Given the description of an element on the screen output the (x, y) to click on. 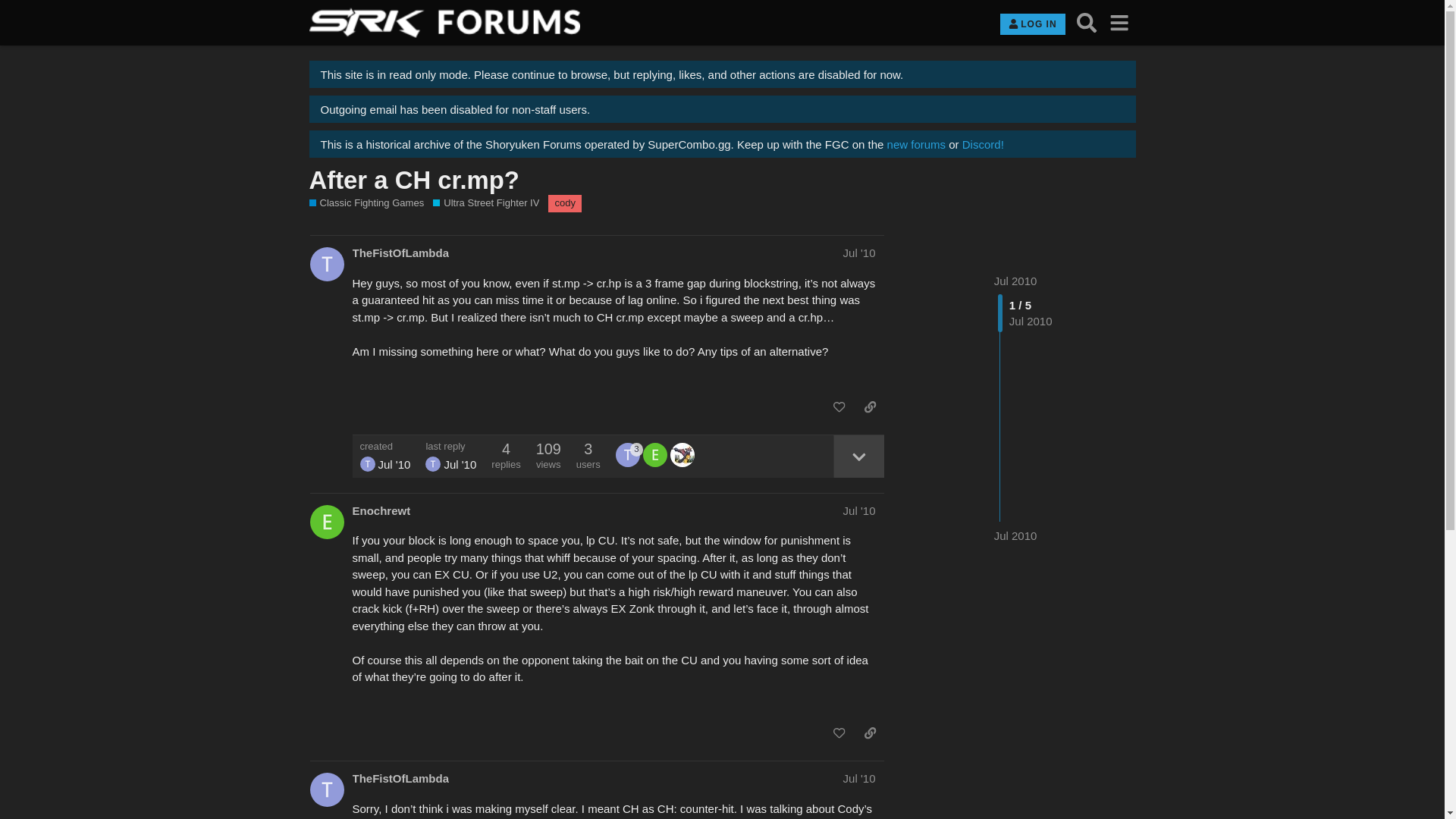
Jul '10 (859, 778)
TheFistOfLambda (400, 252)
new forums (916, 144)
Post date (859, 252)
Classic Fighting Games (366, 202)
Jul 2010 (1015, 280)
TheFistOfLambda (433, 463)
TheFistOfLambda (400, 778)
cody (564, 202)
